Given the description of an element on the screen output the (x, y) to click on. 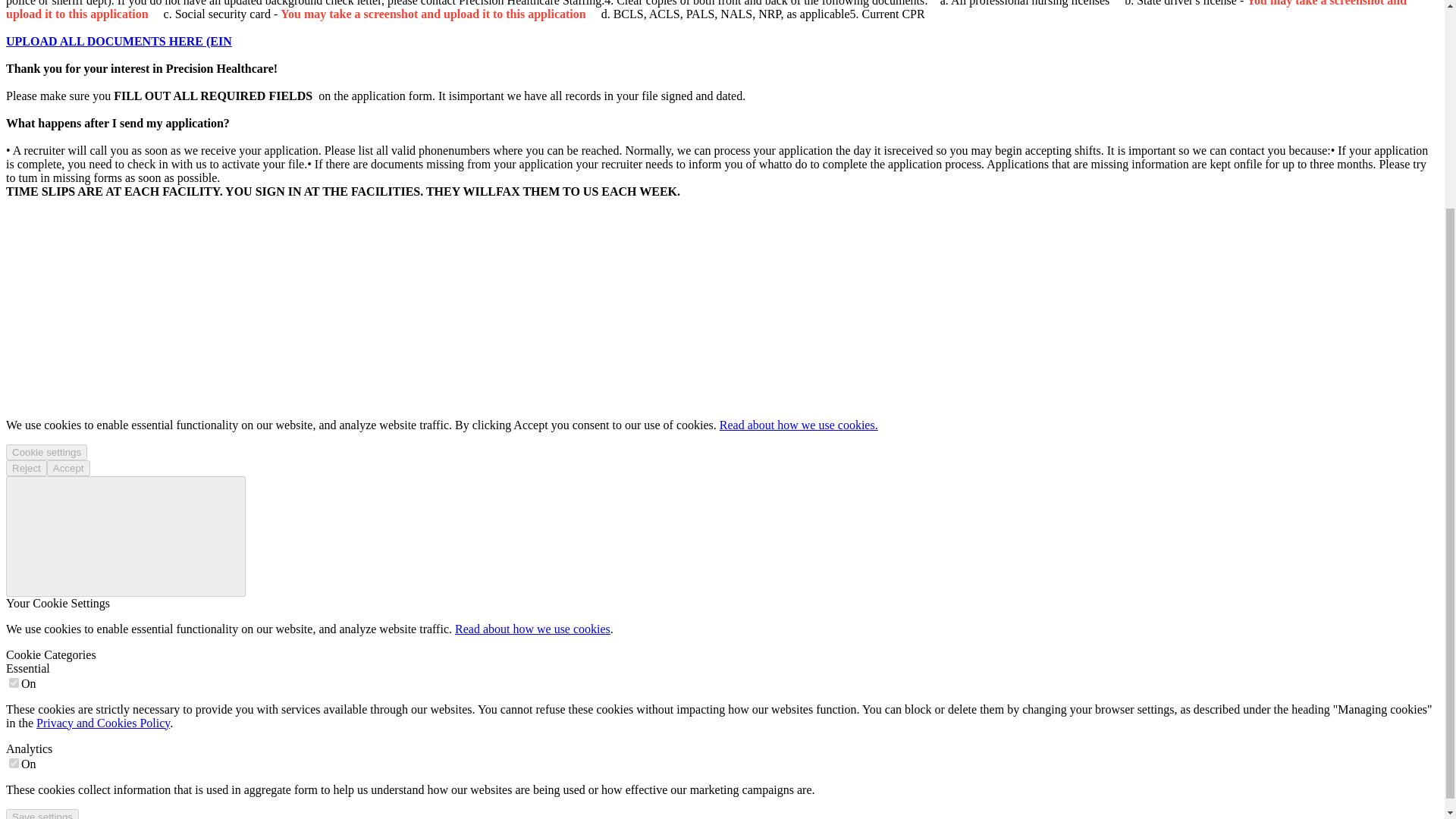
Reject (25, 467)
on (13, 763)
Accept (68, 467)
Privacy and Cookies Policy (103, 722)
Read about how we use cookies (532, 628)
Cookie settings (46, 452)
Read about how we use cookies. (798, 424)
on (13, 682)
